Given the description of an element on the screen output the (x, y) to click on. 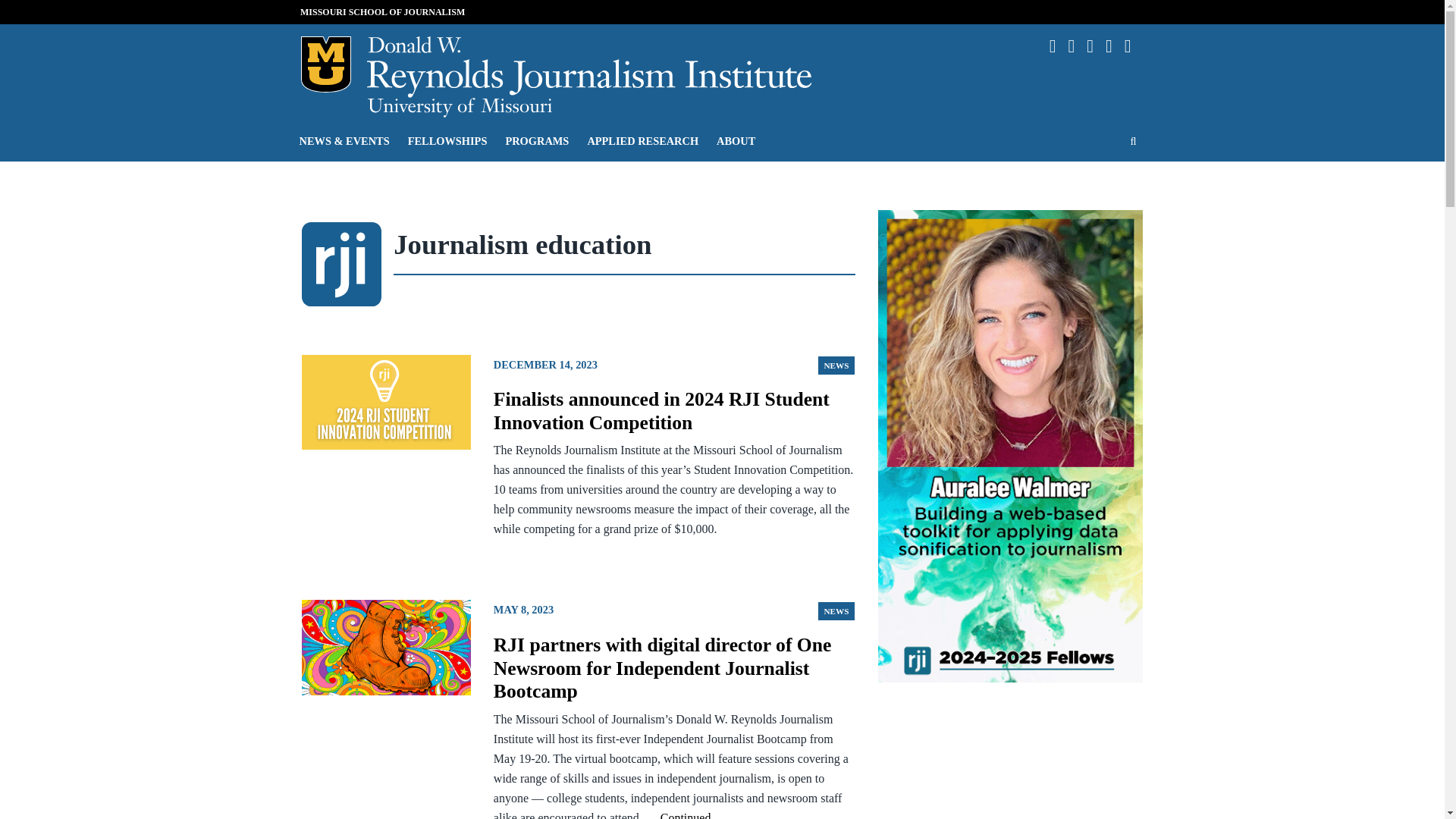
RJI (589, 66)
MISSOURI SCHOOL OF JOURNALISM (381, 11)
FELLOWSHIPS (447, 140)
APPLIED RESEARCH (642, 140)
Twitter (1114, 46)
RJI (589, 66)
Facebook (1058, 46)
Newsletters (1095, 46)
Linked In (1076, 46)
PROGRAMS (537, 140)
YouTube (1133, 46)
Mizzou Logo (324, 64)
University of Missouri (458, 107)
